Given the description of an element on the screen output the (x, y) to click on. 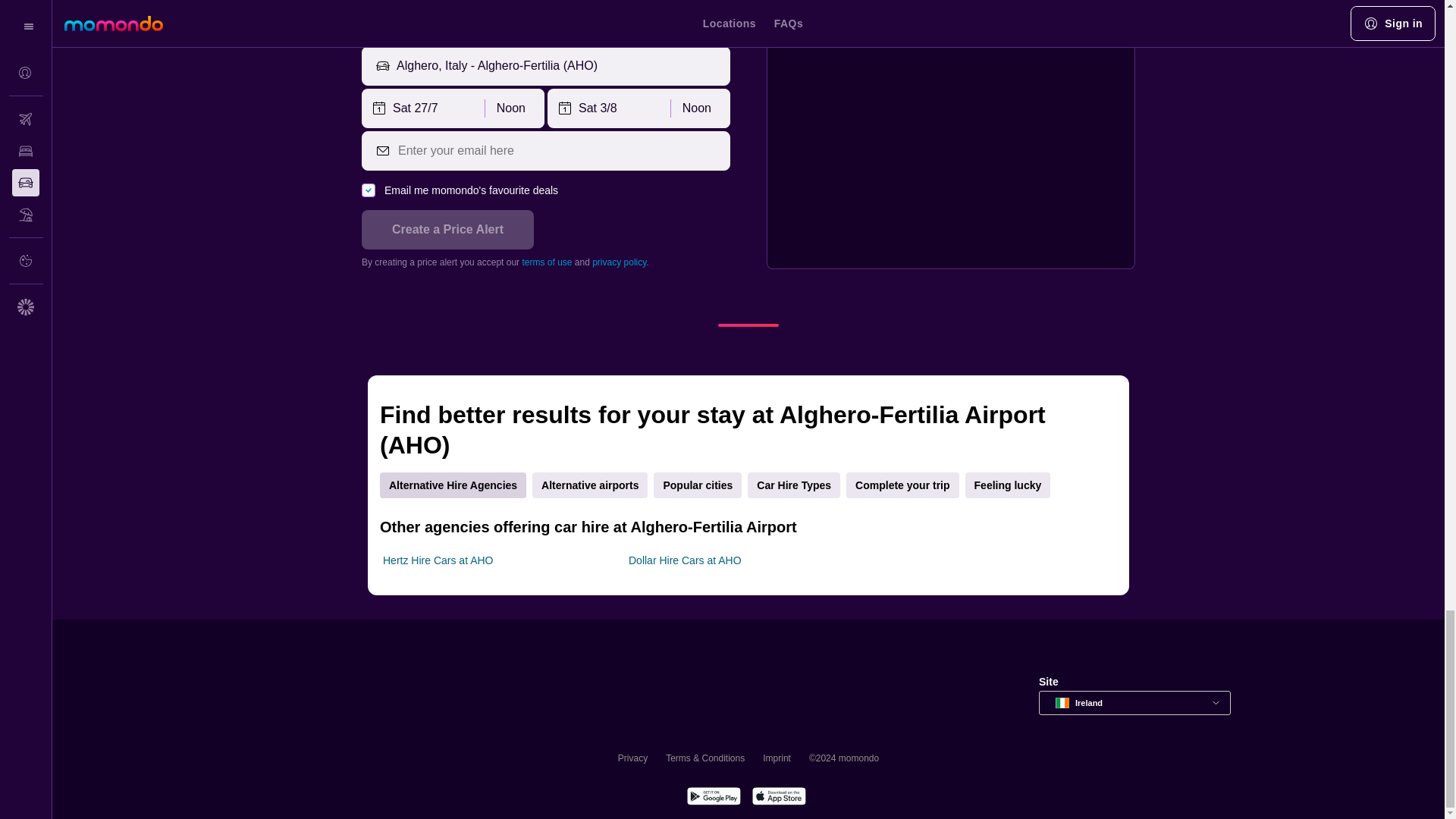
Alternative Hire Agencies (452, 484)
Popular cities (697, 484)
Get it on Google Play (713, 797)
Feeling lucky (1008, 484)
Complete your trip (901, 484)
Car Hire Types (794, 484)
privacy policy. (619, 262)
terms of use (546, 262)
Hertz Hire Cars at AHO (437, 560)
Download on the App Store (778, 797)
Create a Price Alert (447, 229)
Dollar Hire Cars at AHO (684, 560)
Alternative airports (589, 484)
